Given the description of an element on the screen output the (x, y) to click on. 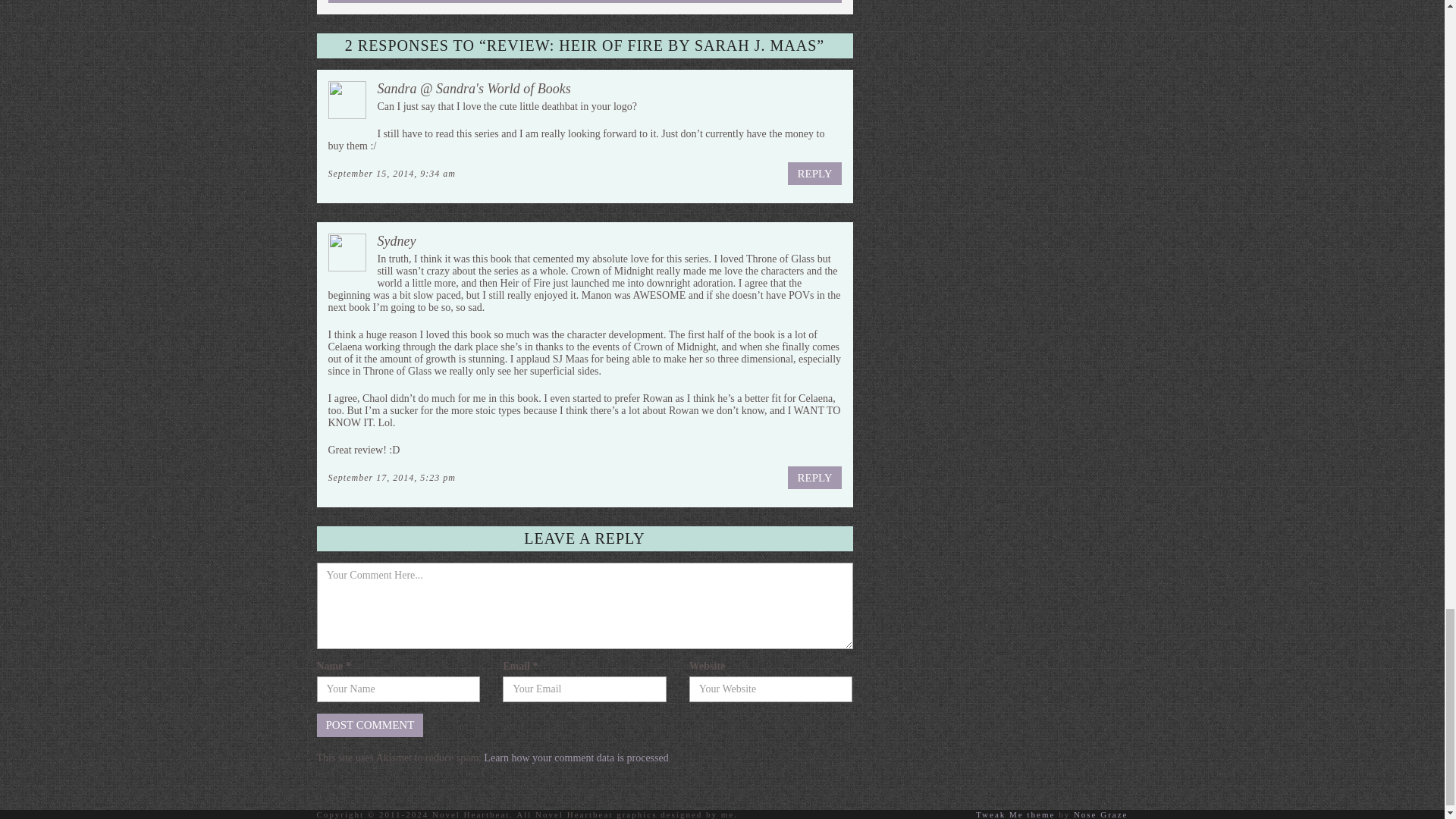
Post Comment (370, 725)
